Given the description of an element on the screen output the (x, y) to click on. 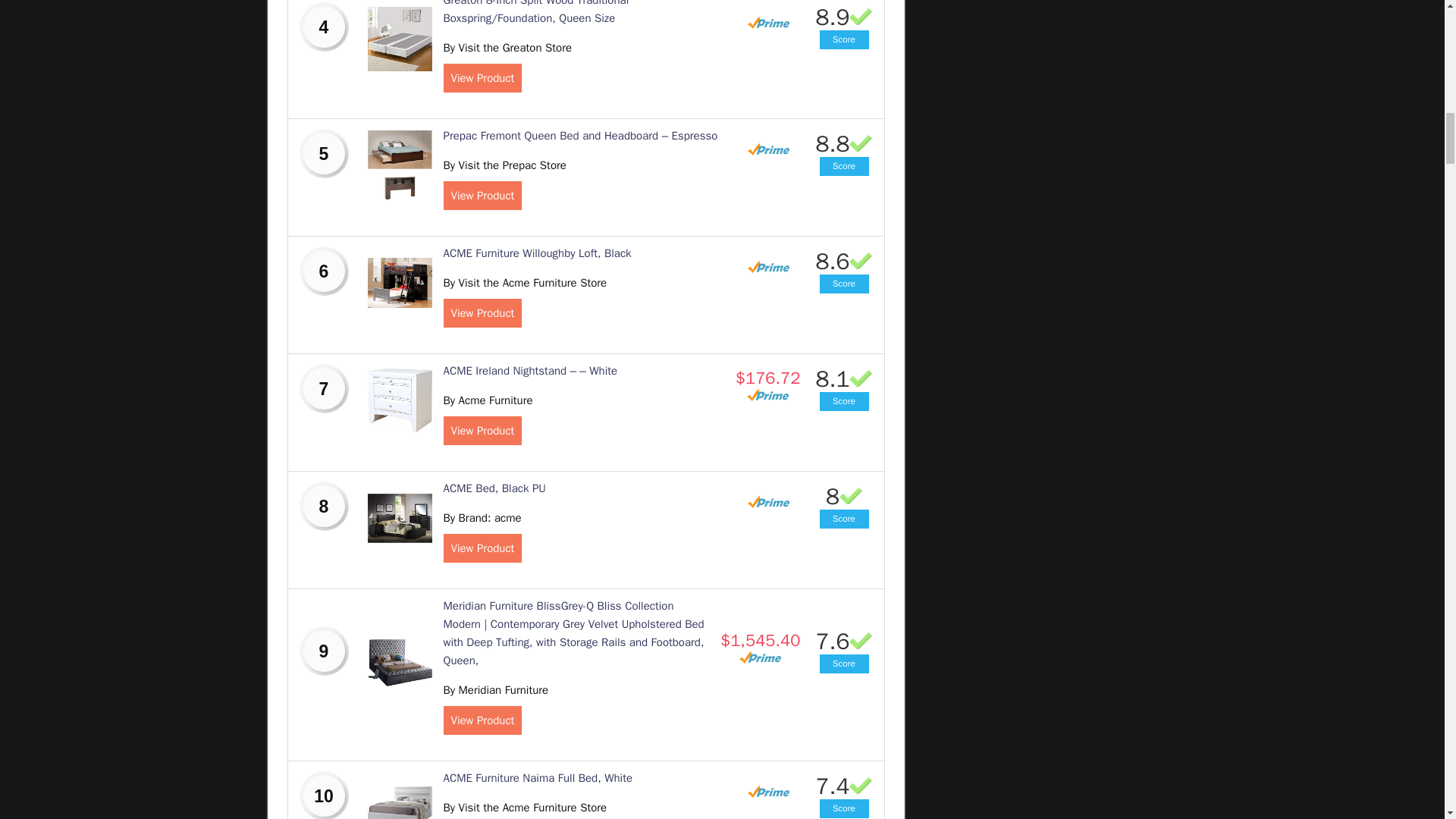
View Product (481, 194)
View Product (481, 312)
ACME Furniture Willoughby Loft, Black (536, 253)
By Visit the Greaton Store (507, 47)
View Product (481, 77)
By Visit the Acme Furniture Store (524, 282)
By Visit the Prepac Store (504, 164)
